Given the description of an element on the screen output the (x, y) to click on. 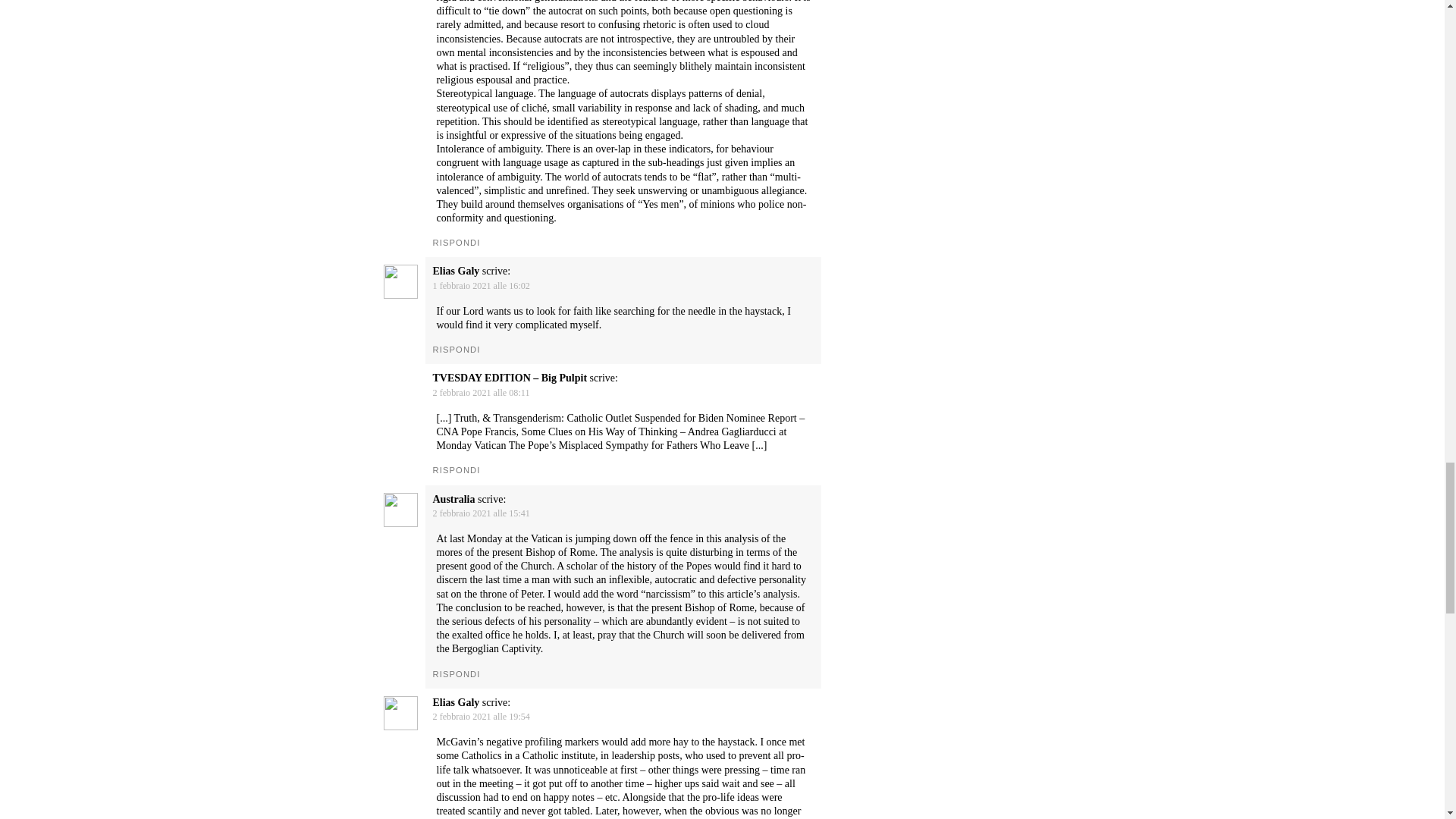
RISPONDI (456, 673)
2 febbraio 2021 alle 19:54 (480, 716)
RISPONDI (456, 242)
RISPONDI (456, 470)
2 febbraio 2021 alle 15:41 (480, 512)
1 febbraio 2021 alle 16:02 (480, 285)
2 febbraio 2021 alle 08:11 (480, 392)
RISPONDI (456, 348)
